Given the description of an element on the screen output the (x, y) to click on. 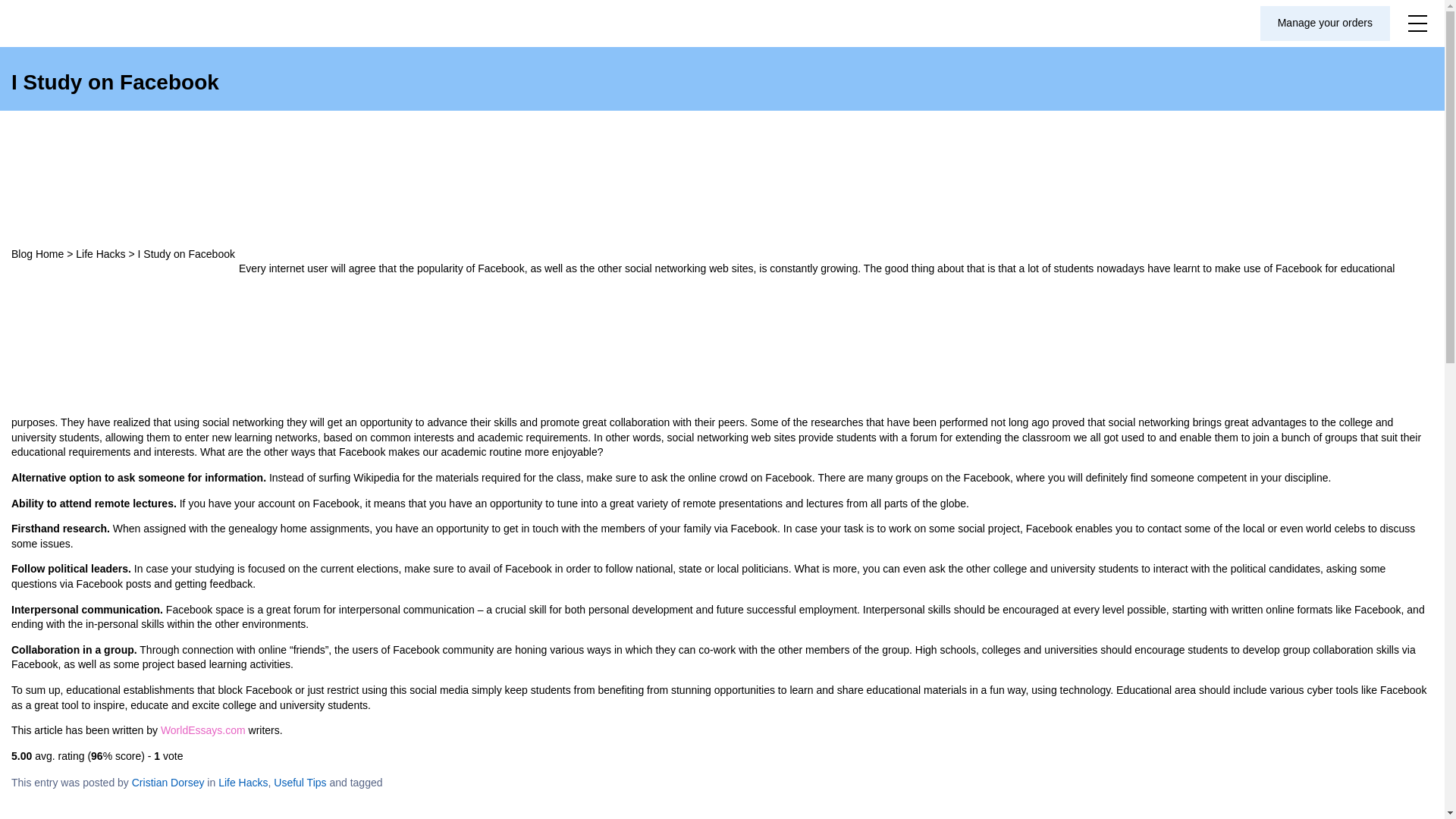
Life Hacks (242, 782)
WorldEssays.com (203, 729)
Useful Tips (299, 782)
Go to the Life Hacks category archives. (100, 254)
Blog Home (37, 254)
Cristian Dorsey (168, 782)
Go to WorldEssays.com. (37, 254)
Manage your orders (1325, 22)
Life Hacks (100, 254)
